Given the description of an element on the screen output the (x, y) to click on. 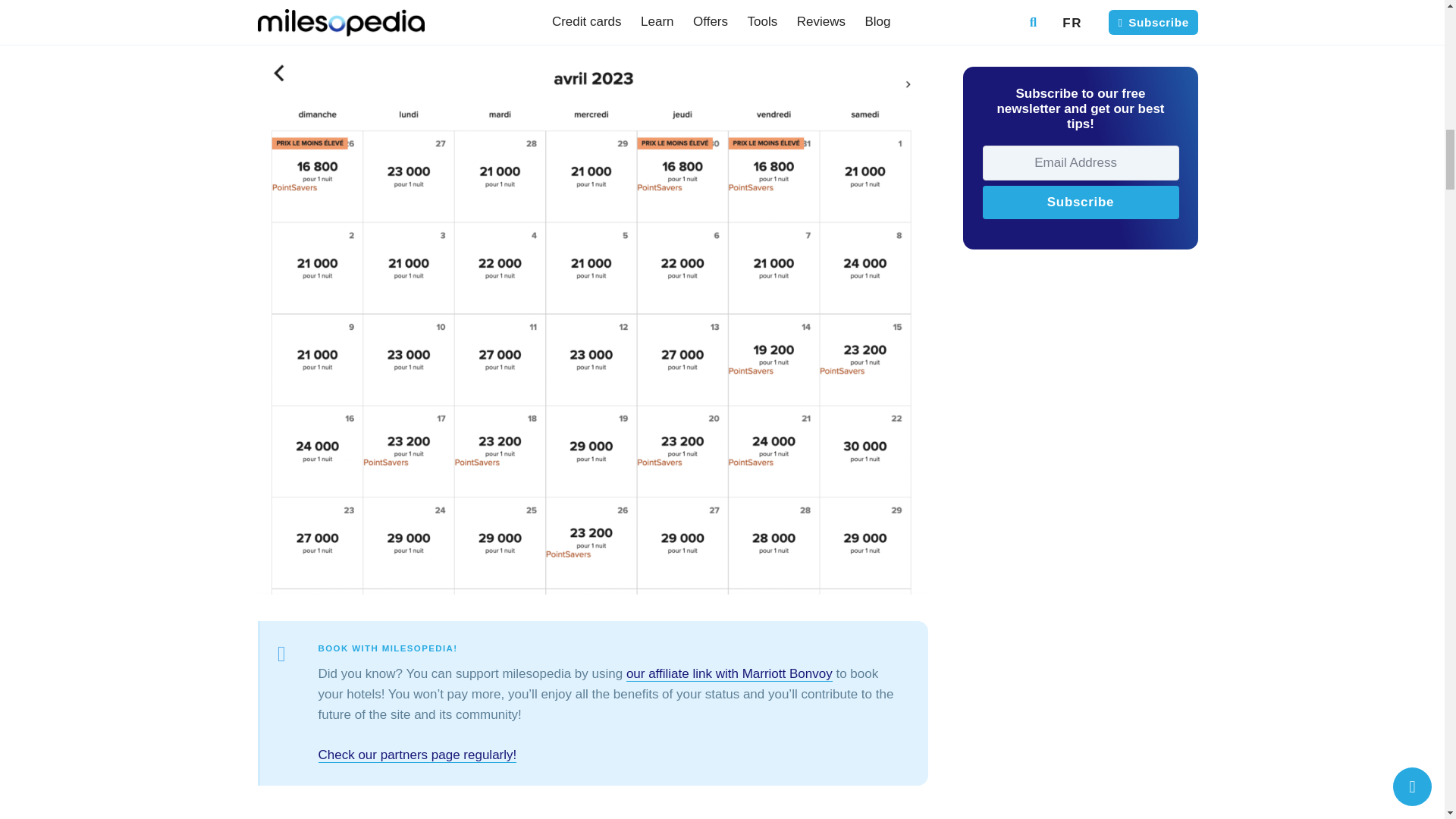
Book Marriott (729, 673)
